Given the description of an element on the screen output the (x, y) to click on. 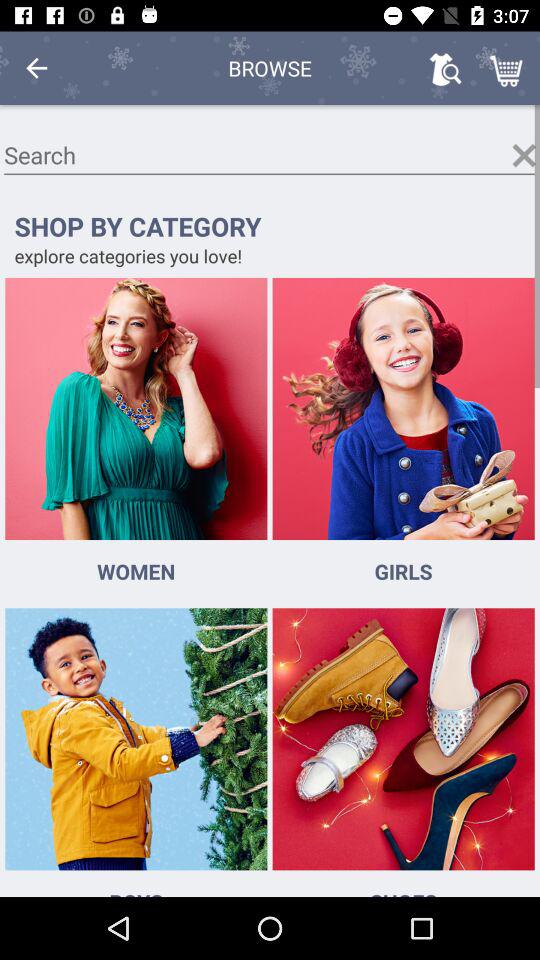
deselect option (524, 155)
